Given the description of an element on the screen output the (x, y) to click on. 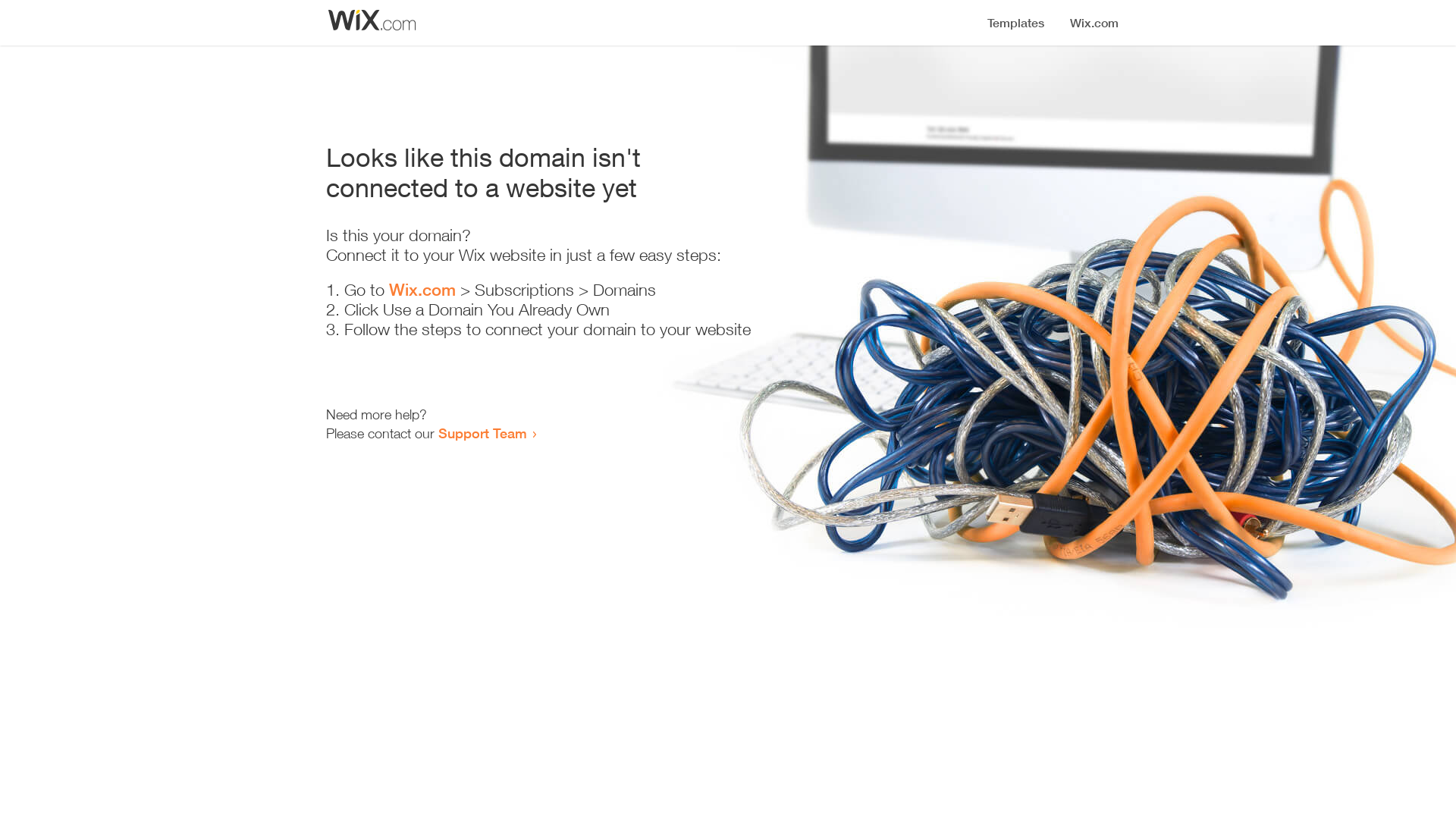
Wix.com Element type: text (422, 289)
Support Team Element type: text (482, 432)
